Given the description of an element on the screen output the (x, y) to click on. 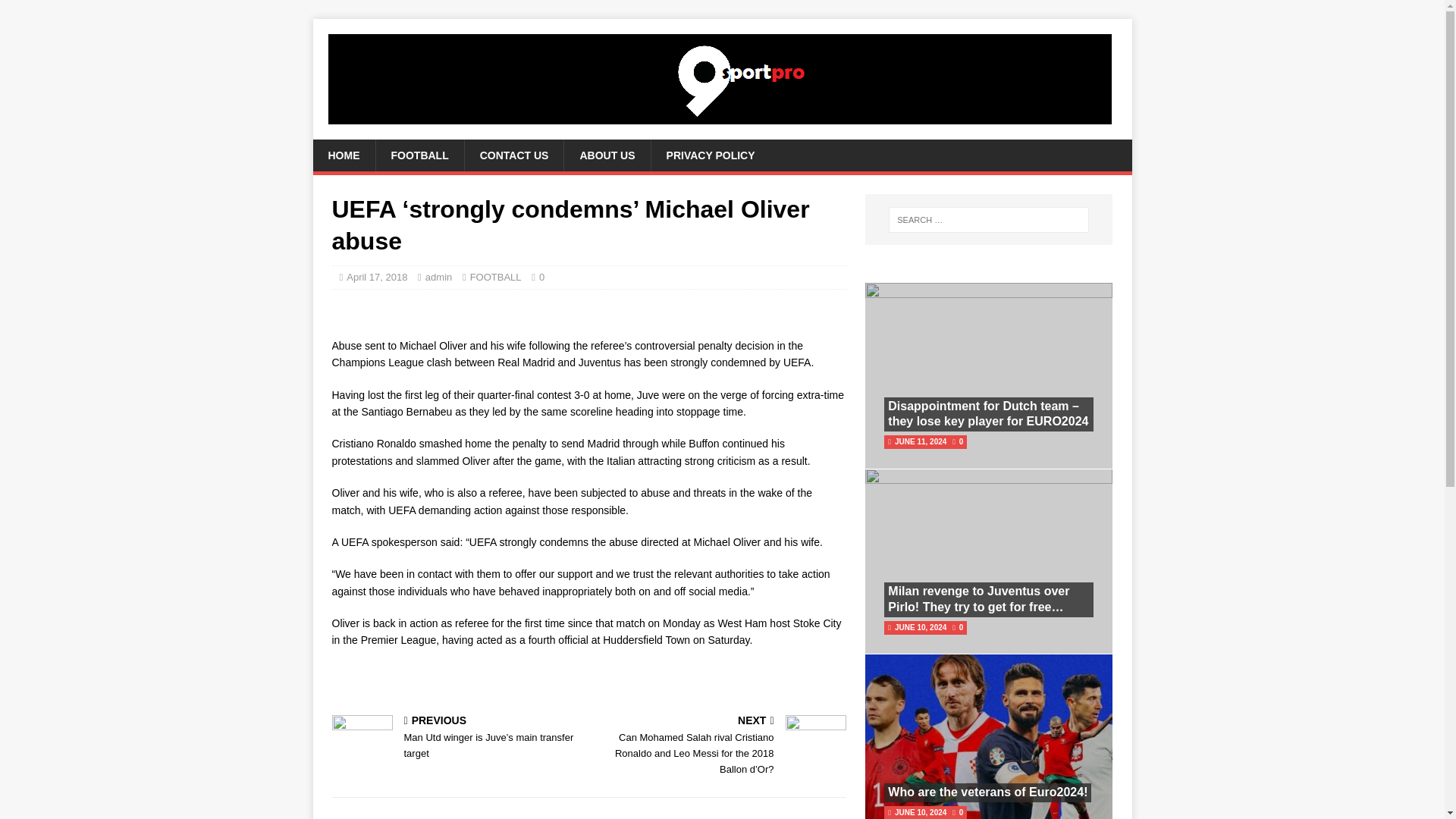
Who are the veterans of Euro2024! (987, 791)
CONTACT US (514, 155)
Who are the veterans of Euro2024! (987, 791)
ABOUT US (606, 155)
FOOTBALL (495, 276)
HOME (343, 155)
April 17, 2018 (376, 276)
Search (56, 11)
PRIVACY POLICY (710, 155)
FOOTBALL (418, 155)
admin (438, 276)
